Given the description of an element on the screen output the (x, y) to click on. 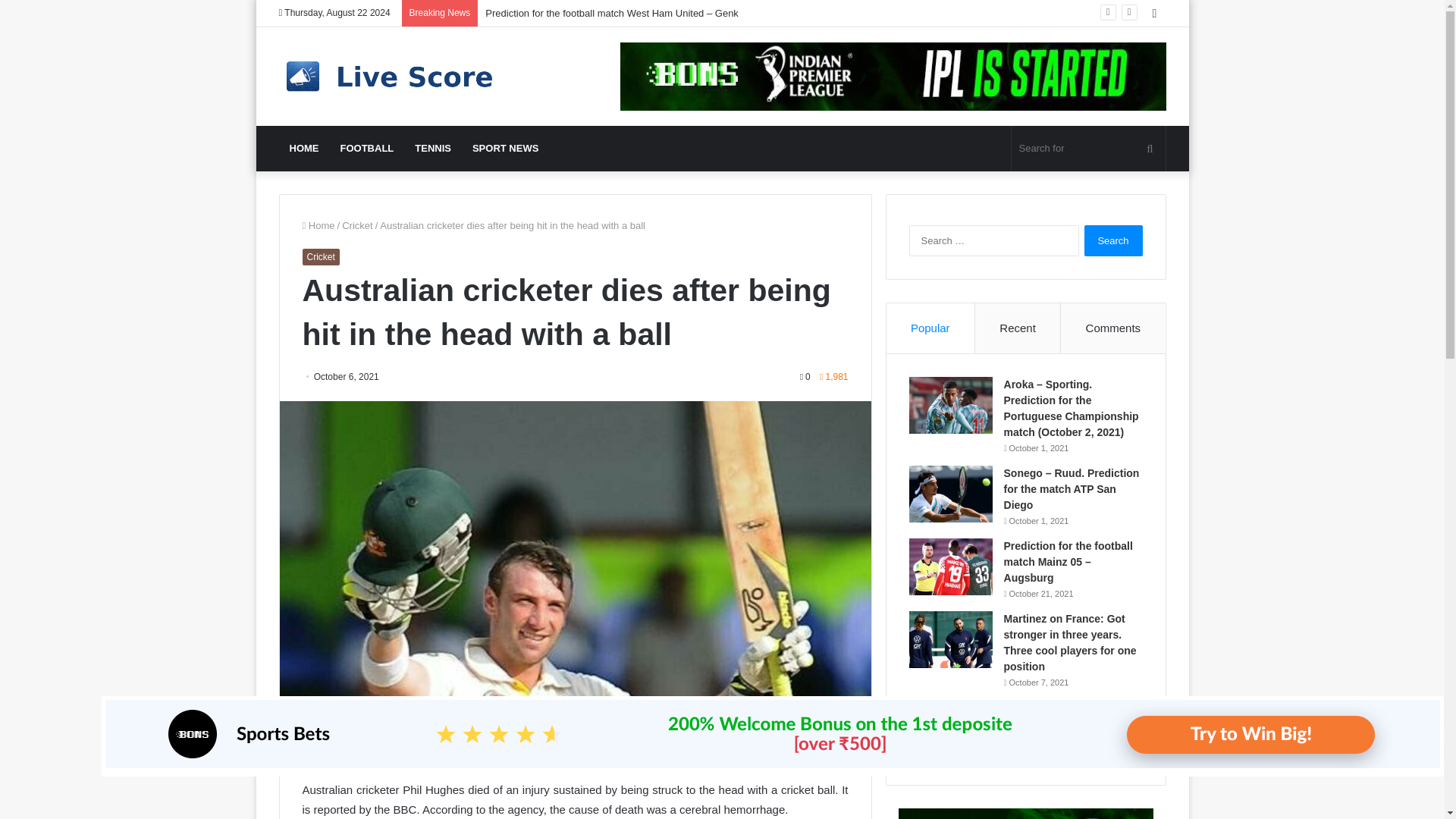
Search for (1088, 148)
Comments (1112, 327)
HOME (304, 148)
FOOTBALL (366, 148)
TENNIS (432, 148)
Home (317, 225)
SPORT NEWS (504, 148)
Cricket (320, 256)
Recent (1018, 327)
